Given the description of an element on the screen output the (x, y) to click on. 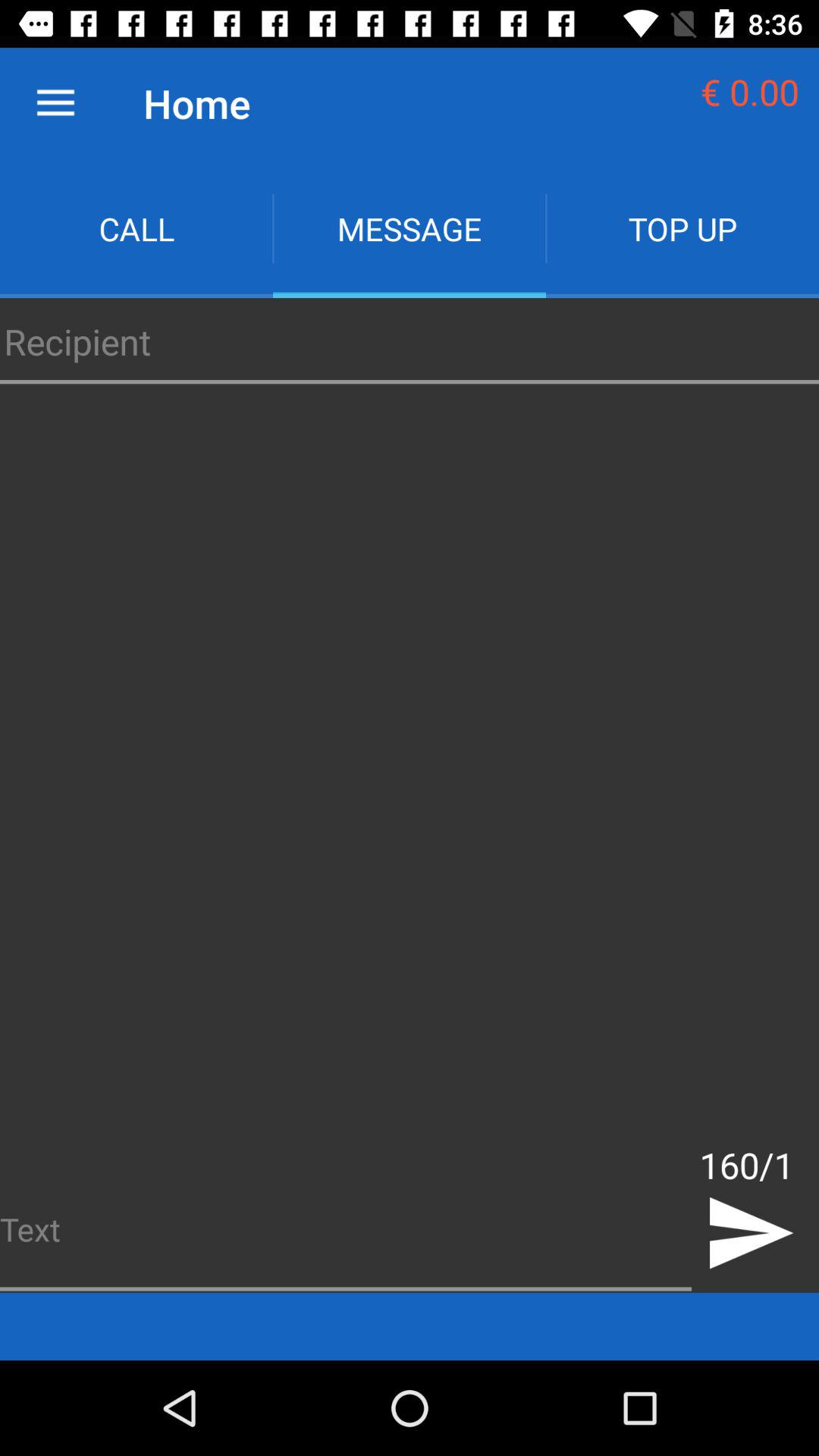
open the item next to the home icon (55, 103)
